Given the description of an element on the screen output the (x, y) to click on. 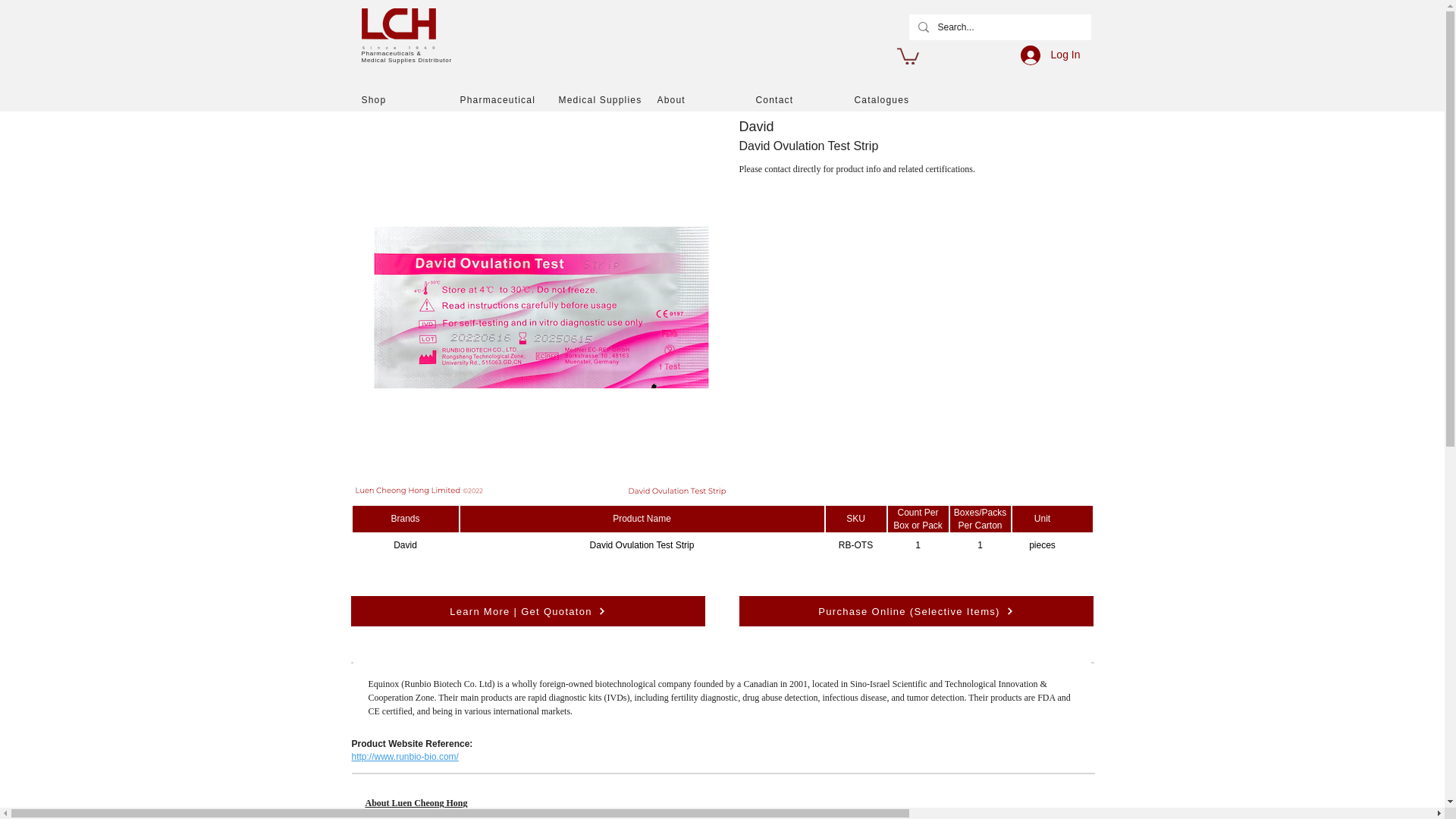
Medical Supplies (606, 99)
Pharmaceutical (508, 99)
About (705, 99)
Contact (804, 99)
Catalogues (902, 99)
Shop (410, 99)
Log In (1050, 54)
